Given the description of an element on the screen output the (x, y) to click on. 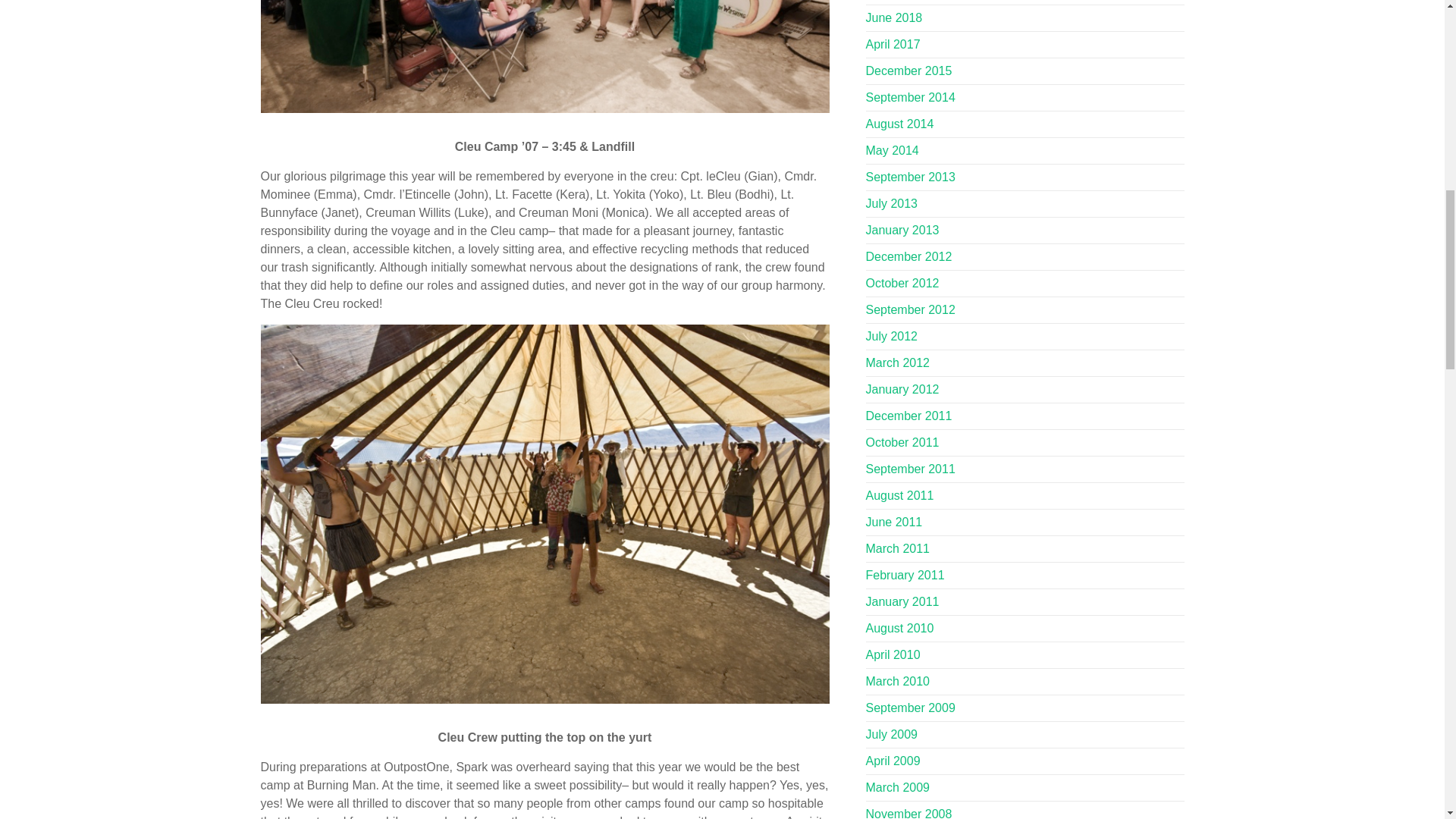
December 2015 (909, 70)
May 2014 (892, 150)
August 2014 (900, 123)
September 2013 (910, 176)
June 2018 (894, 17)
April 2017 (893, 43)
September 2014 (910, 97)
